Given the description of an element on the screen output the (x, y) to click on. 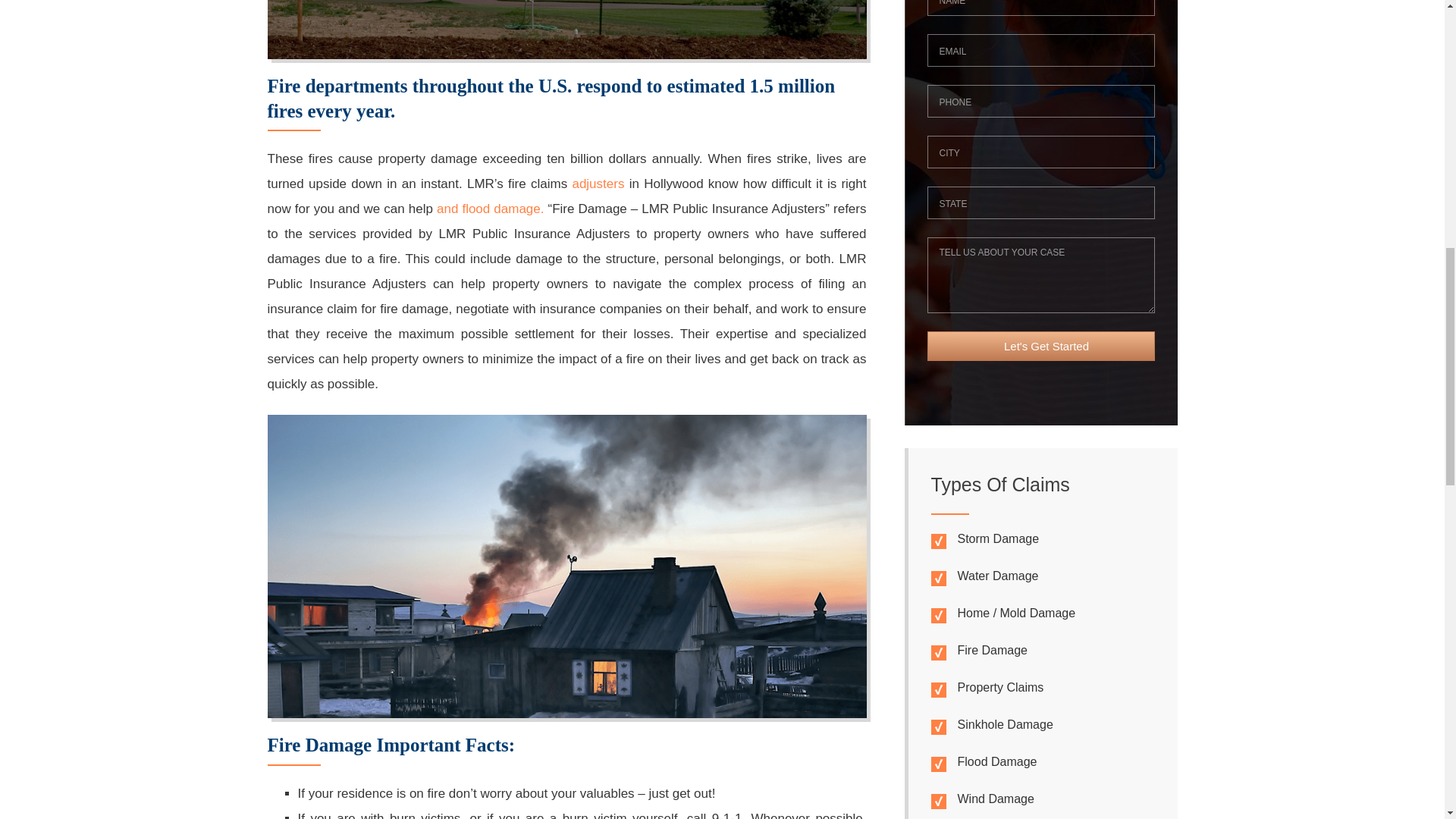
Let's Get Started (1040, 346)
